Given the description of an element on the screen output the (x, y) to click on. 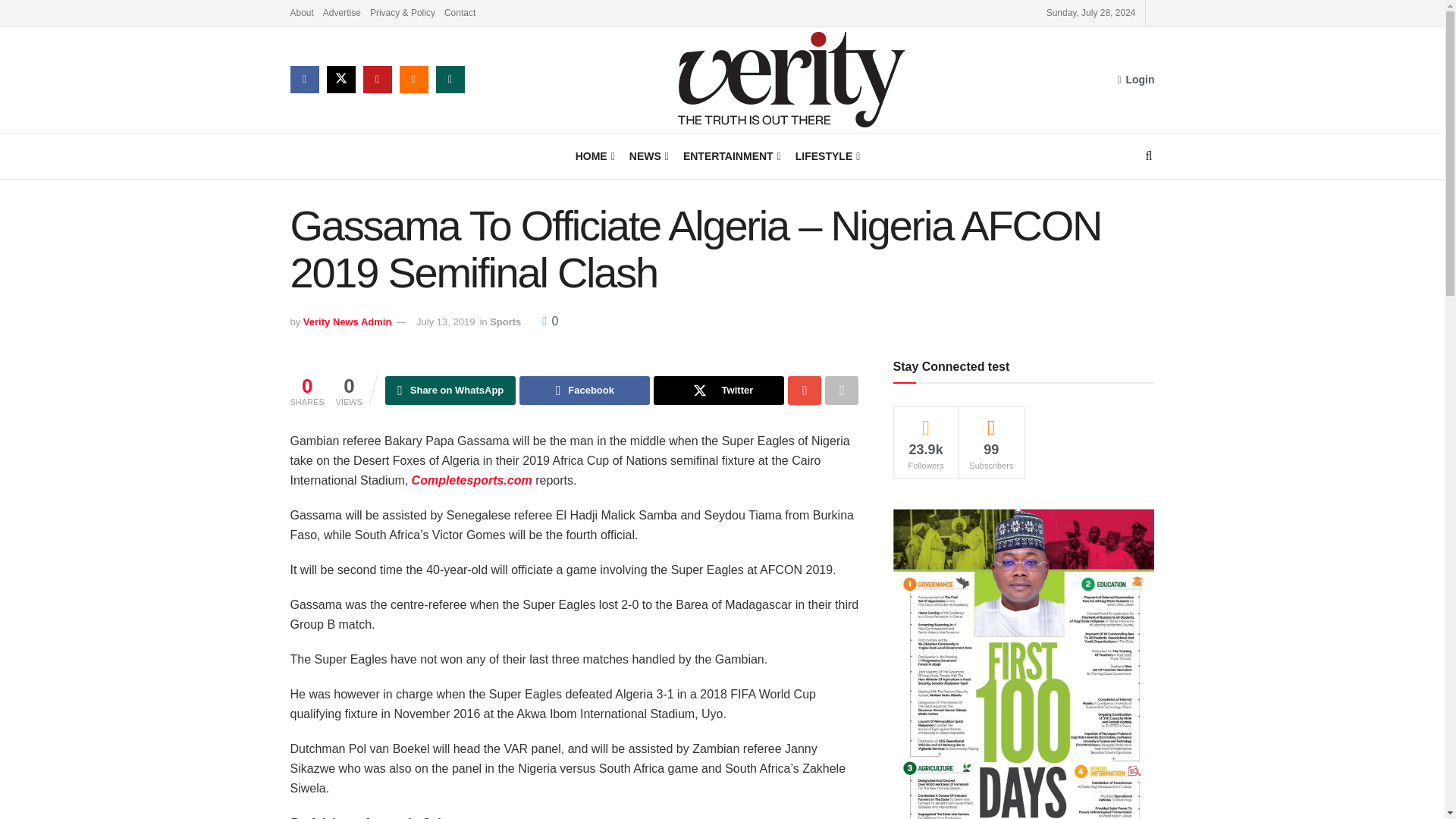
ENTERTAINMENT (730, 156)
About (301, 12)
HOME (593, 156)
Contact (460, 12)
NEWS (647, 156)
Login (1135, 79)
Advertise (342, 12)
